Given the description of an element on the screen output the (x, y) to click on. 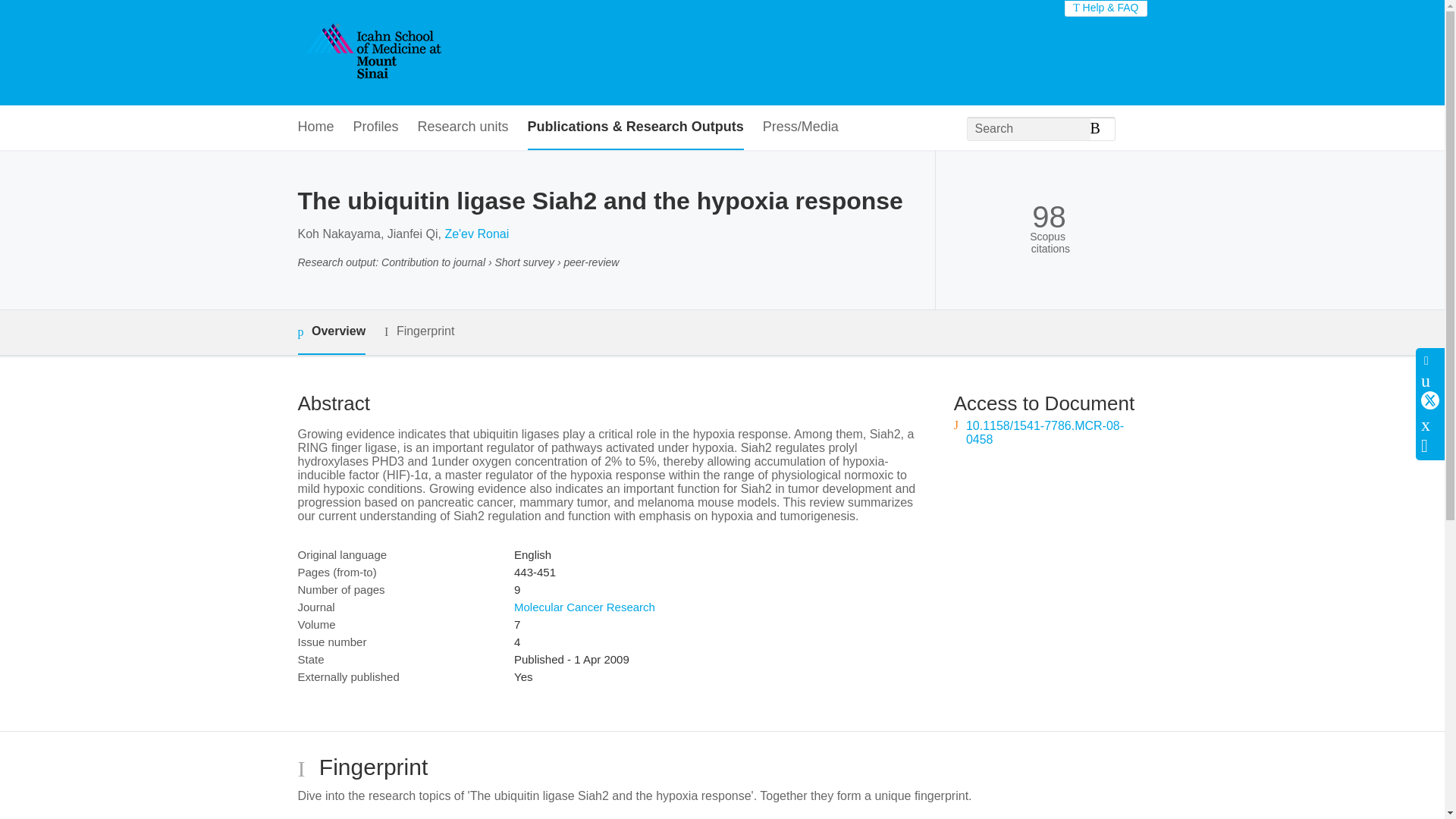
Fingerprint (419, 331)
Research units (462, 127)
Profiles (375, 127)
Icahn School of Medicine at Mount Sinai Home (372, 52)
Molecular Cancer Research (584, 606)
Ze'ev Ronai (476, 233)
Overview (331, 332)
